Given the description of an element on the screen output the (x, y) to click on. 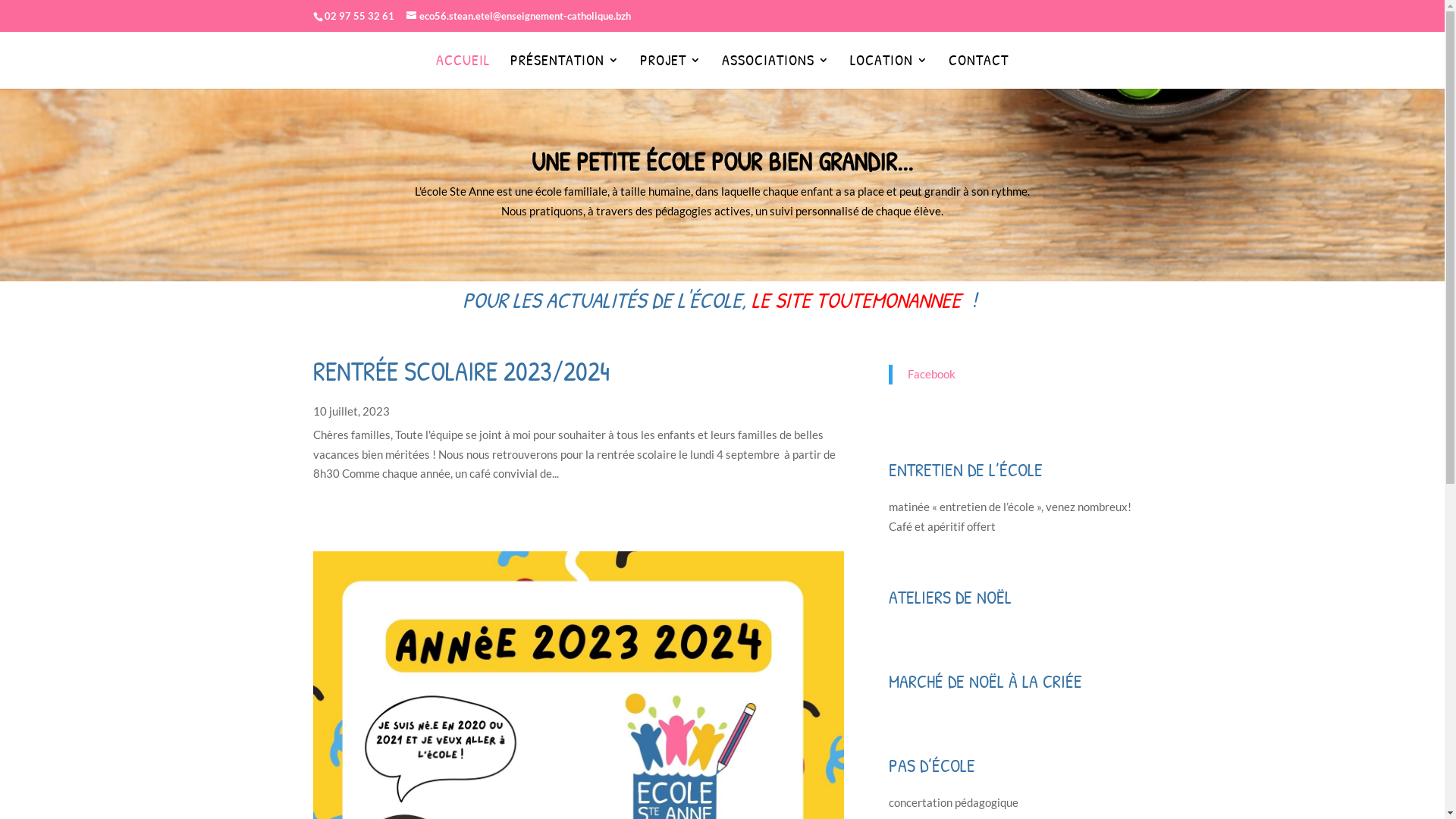
ASSOCIATIONS Element type: text (775, 67)
ACCUEIL Element type: text (462, 67)
LOCATION Element type: text (889, 67)
CONTACT Element type: text (978, 67)
LE SITE TOUTEMONANNEE Element type: text (855, 299)
Facebook Element type: text (931, 373)
eco56.stean.etel@enseignement-catholique.bzh Element type: text (518, 15)
PROJET Element type: text (670, 67)
